Given the description of an element on the screen output the (x, y) to click on. 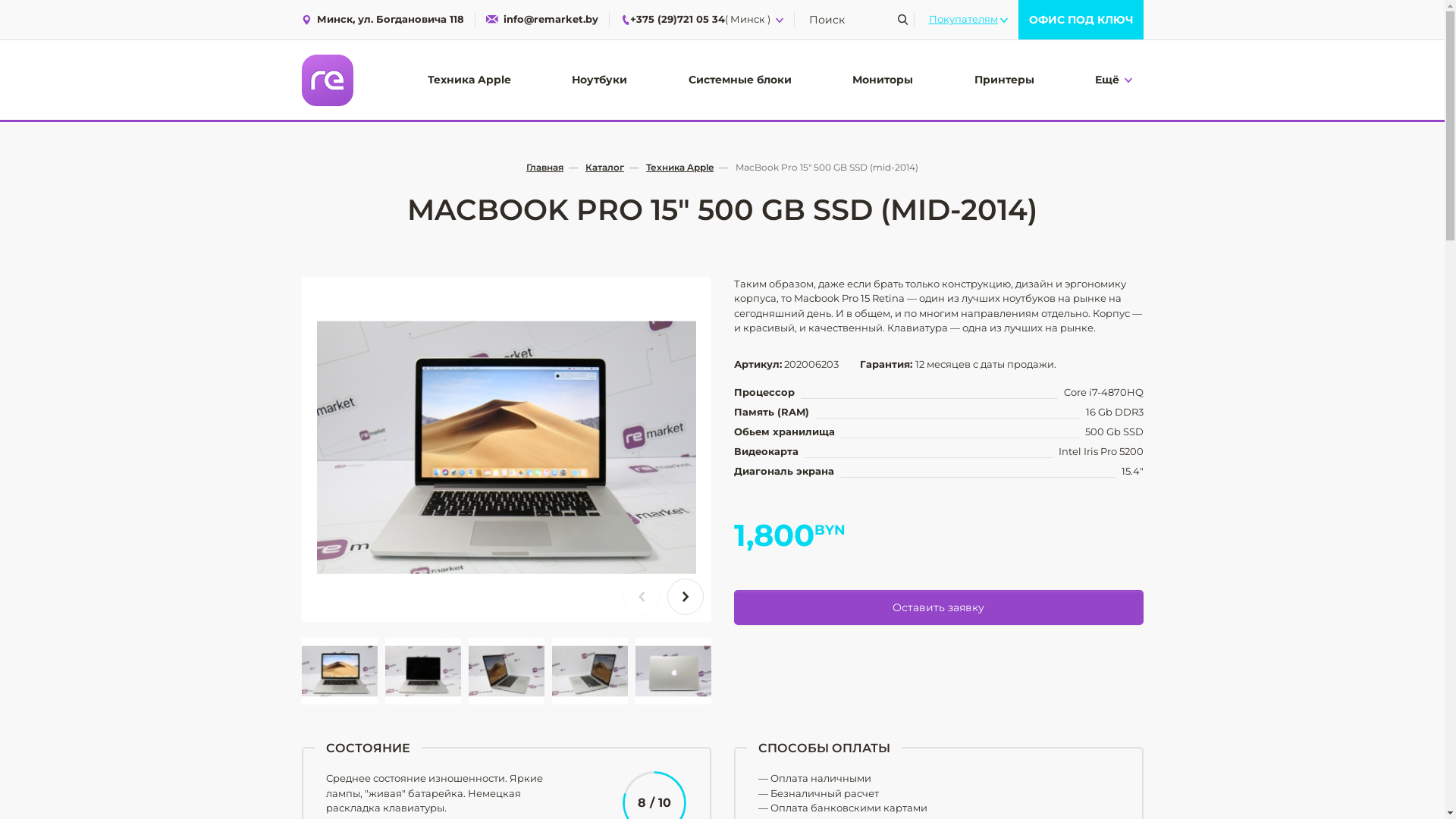
info@remarket.by Element type: text (541, 18)
+375 (29)
721 05 34 Element type: text (672, 19)
macbook_pro_15_7.jpg Element type: hover (506, 447)
